Given the description of an element on the screen output the (x, y) to click on. 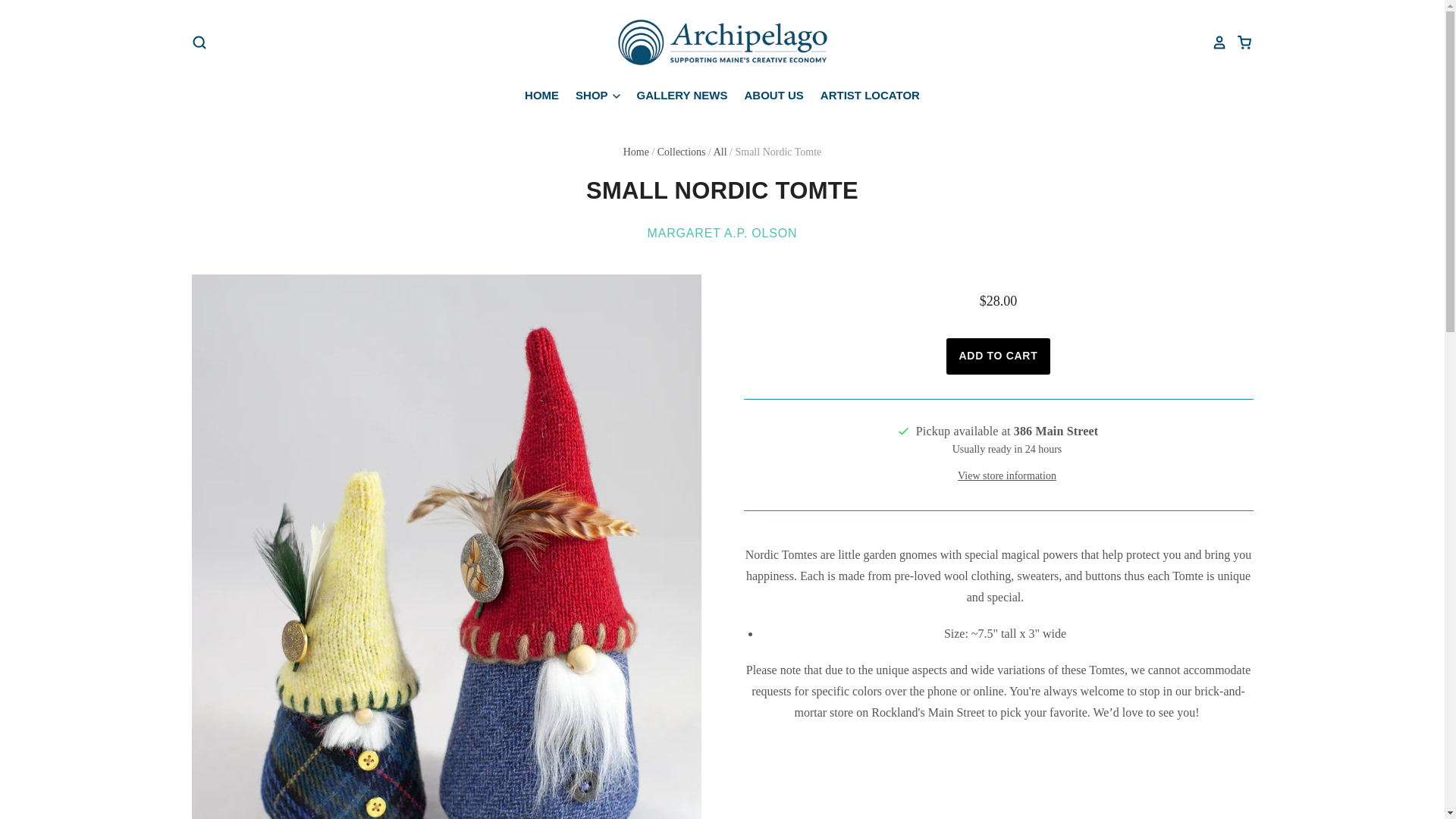
Add to cart (998, 356)
